Given the description of an element on the screen output the (x, y) to click on. 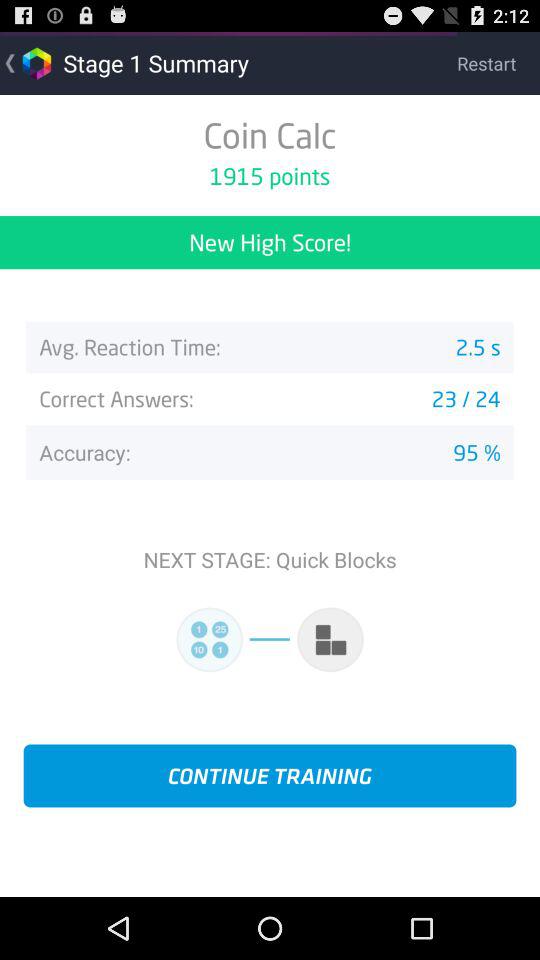
choose continue training (269, 775)
